Given the description of an element on the screen output the (x, y) to click on. 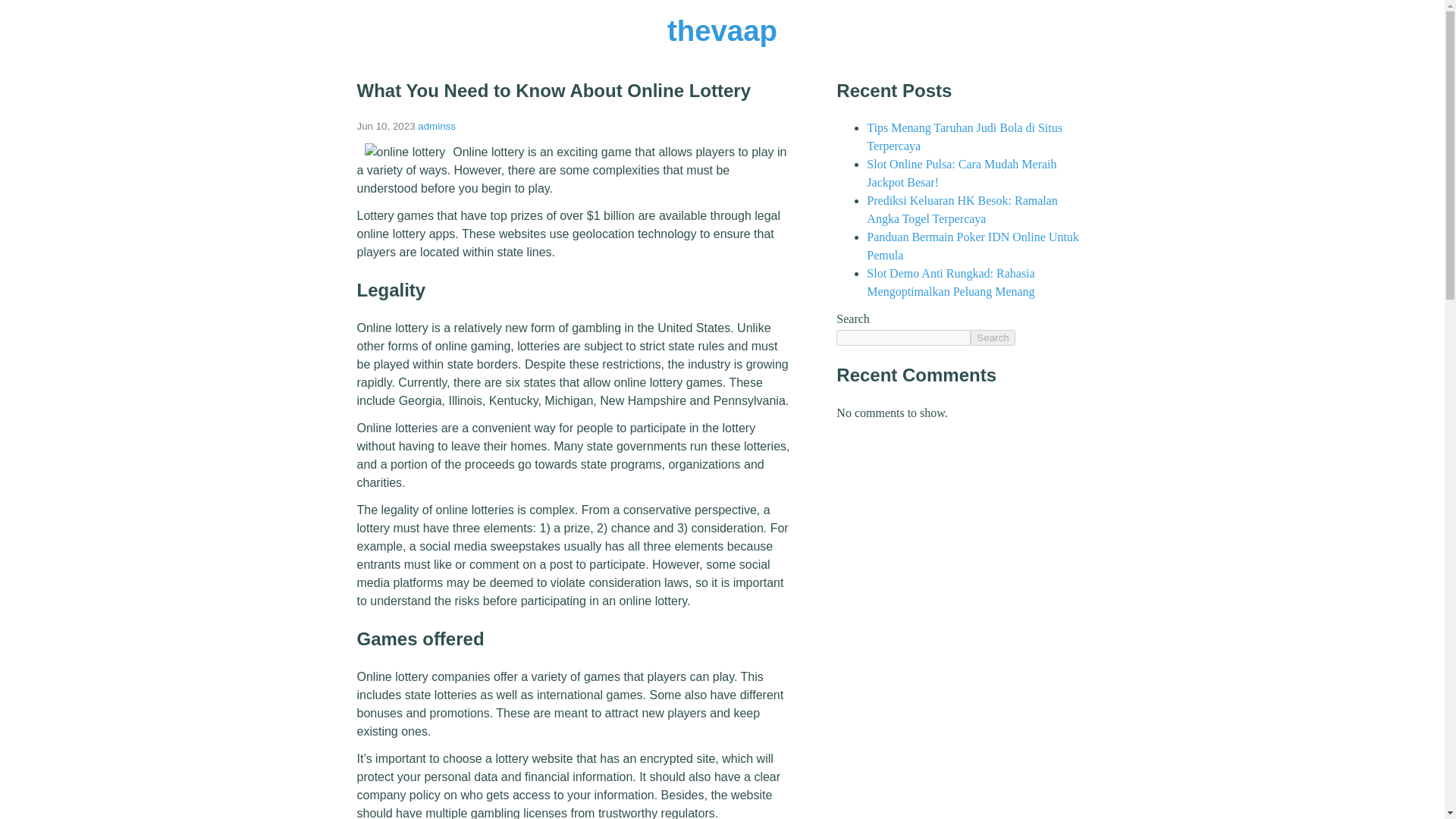
adminss (436, 125)
Prediksi Keluaran HK Besok: Ramalan Angka Togel Terpercaya (962, 209)
Tips Menang Taruhan Judi Bola di Situs Terpercaya (964, 136)
Search (992, 337)
Slot Online Pulsa: Cara Mudah Meraih Jackpot Besar! (961, 173)
Panduan Bermain Poker IDN Online Untuk Pemula (972, 245)
thevaap (721, 30)
